Given the description of an element on the screen output the (x, y) to click on. 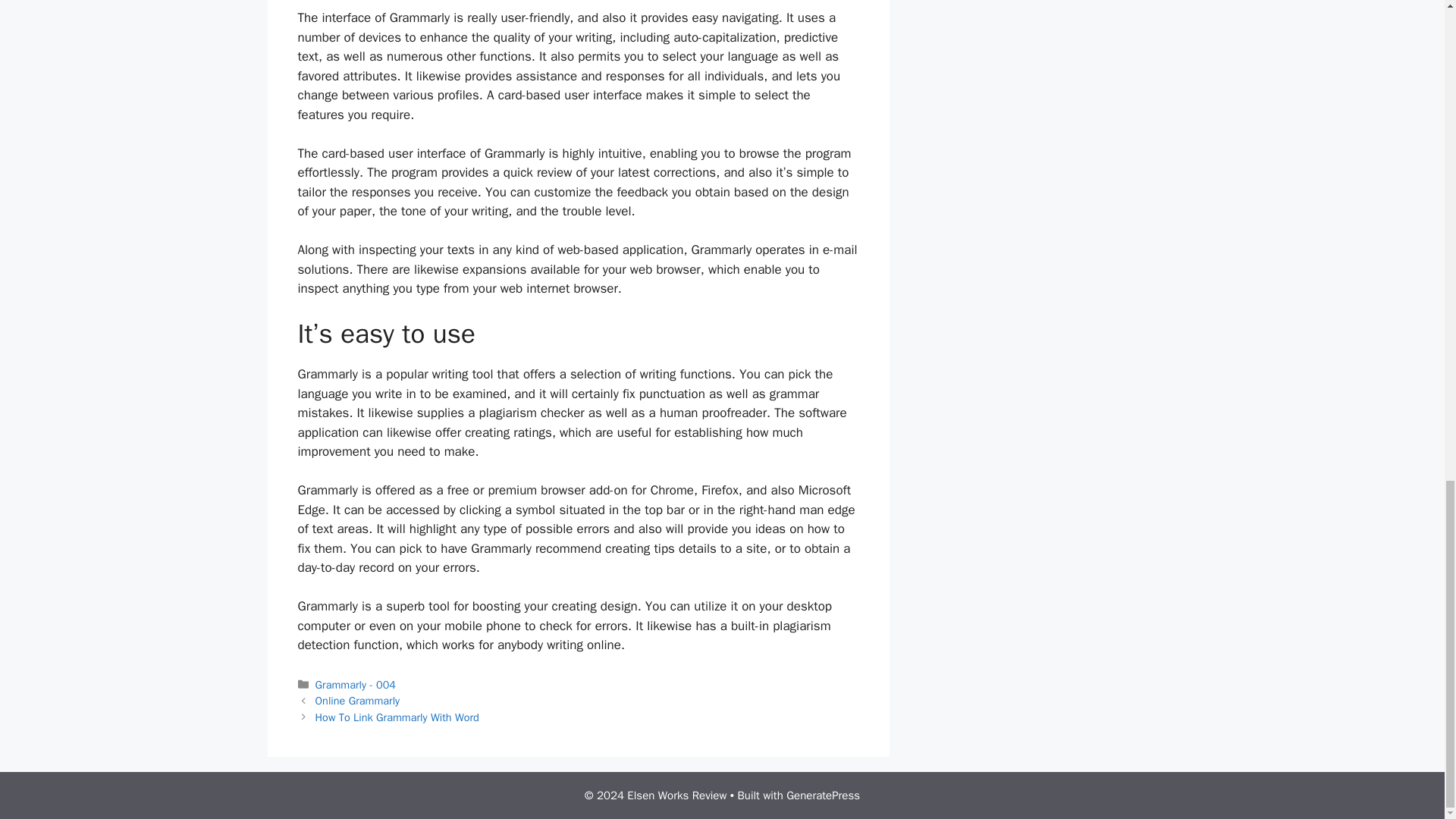
How To Link Grammarly With Word (397, 716)
Next (397, 716)
GeneratePress (823, 795)
Previous (357, 700)
Online Grammarly (357, 700)
Grammarly - 004 (355, 684)
